Given the description of an element on the screen output the (x, y) to click on. 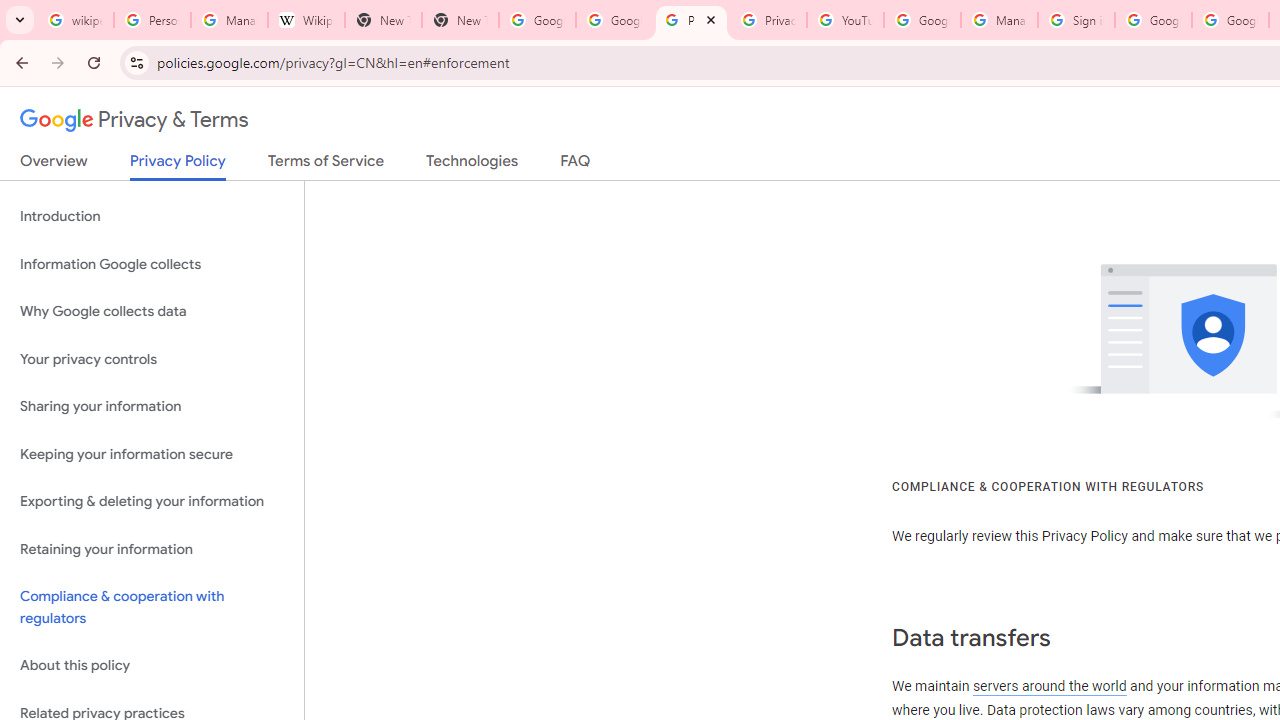
Keeping your information secure (152, 453)
Sharing your information (152, 407)
Why Google collects data (152, 312)
Exporting & deleting your information (152, 502)
Privacy & Terms (134, 120)
Terms of Service (326, 165)
